Given the description of an element on the screen output the (x, y) to click on. 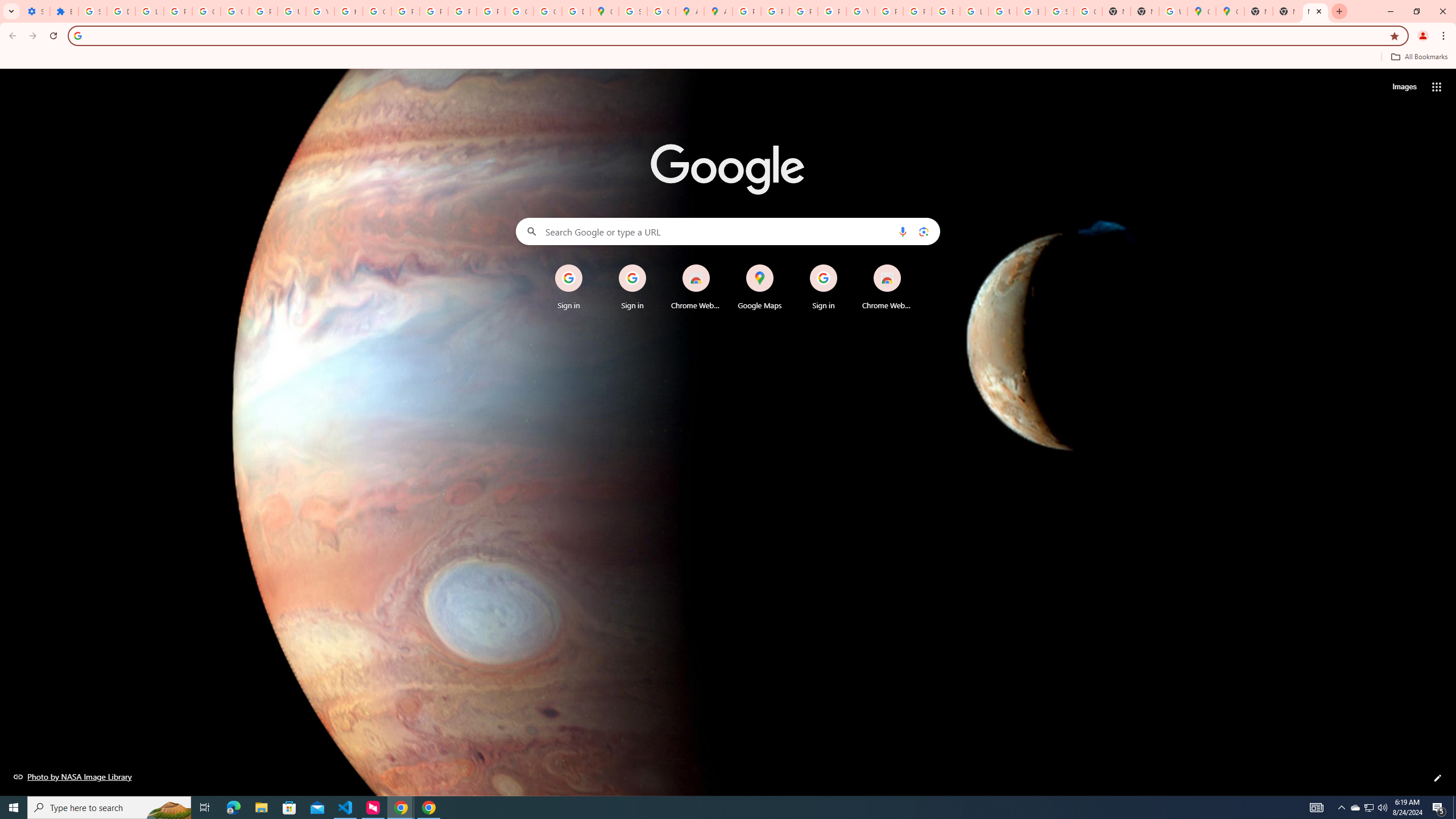
Sign in (824, 287)
Customize this page (1437, 778)
Bookmarks (728, 58)
New Tab (1338, 11)
Create your Google Account (661, 11)
Search for Images  (1403, 87)
Extensions (63, 11)
Bookmark this tab (1393, 35)
Search icon (77, 35)
Photo by NASA Image Library (72, 776)
